Given the description of an element on the screen output the (x, y) to click on. 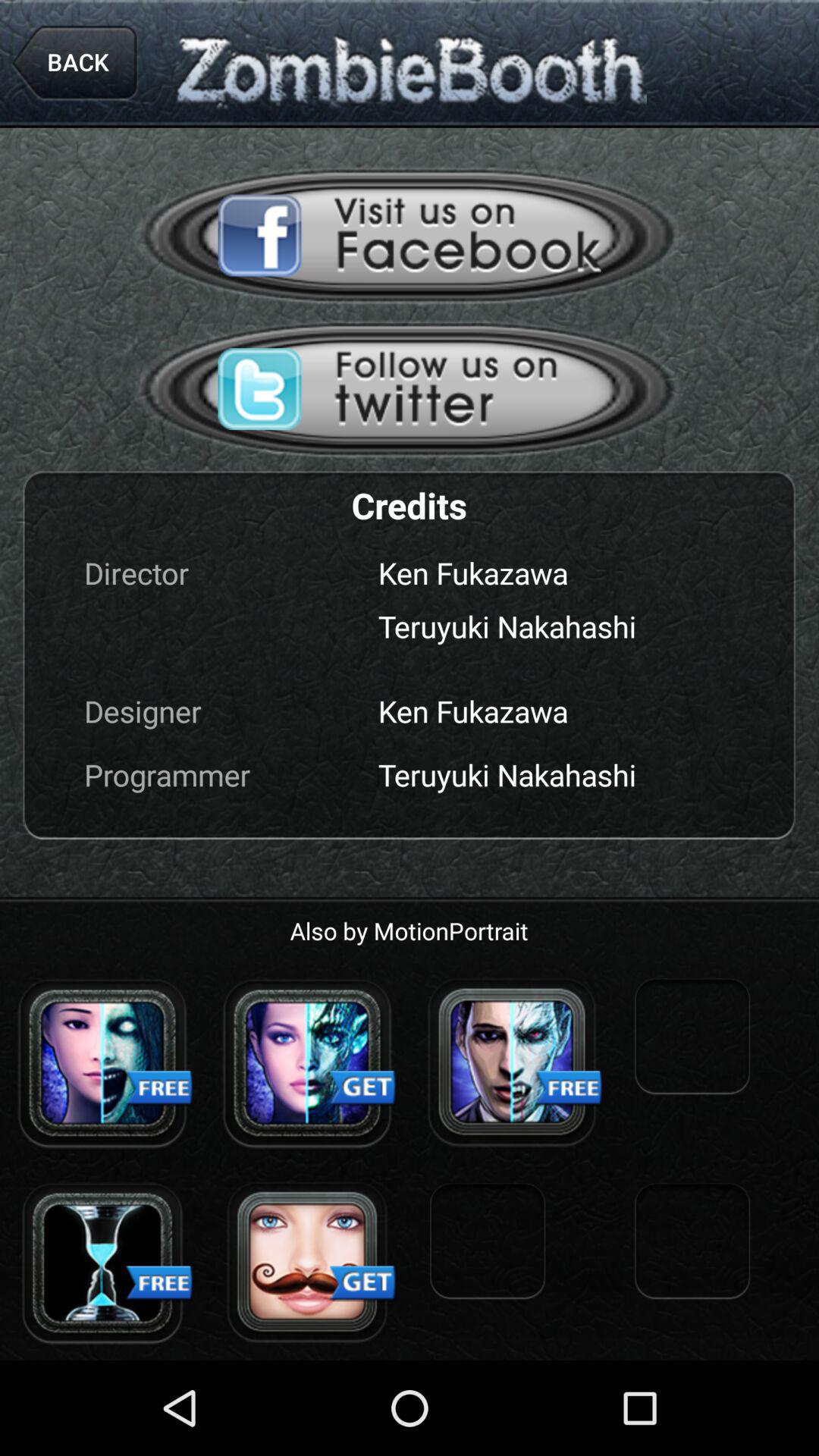
buy a character (306, 1062)
